Given the description of an element on the screen output the (x, y) to click on. 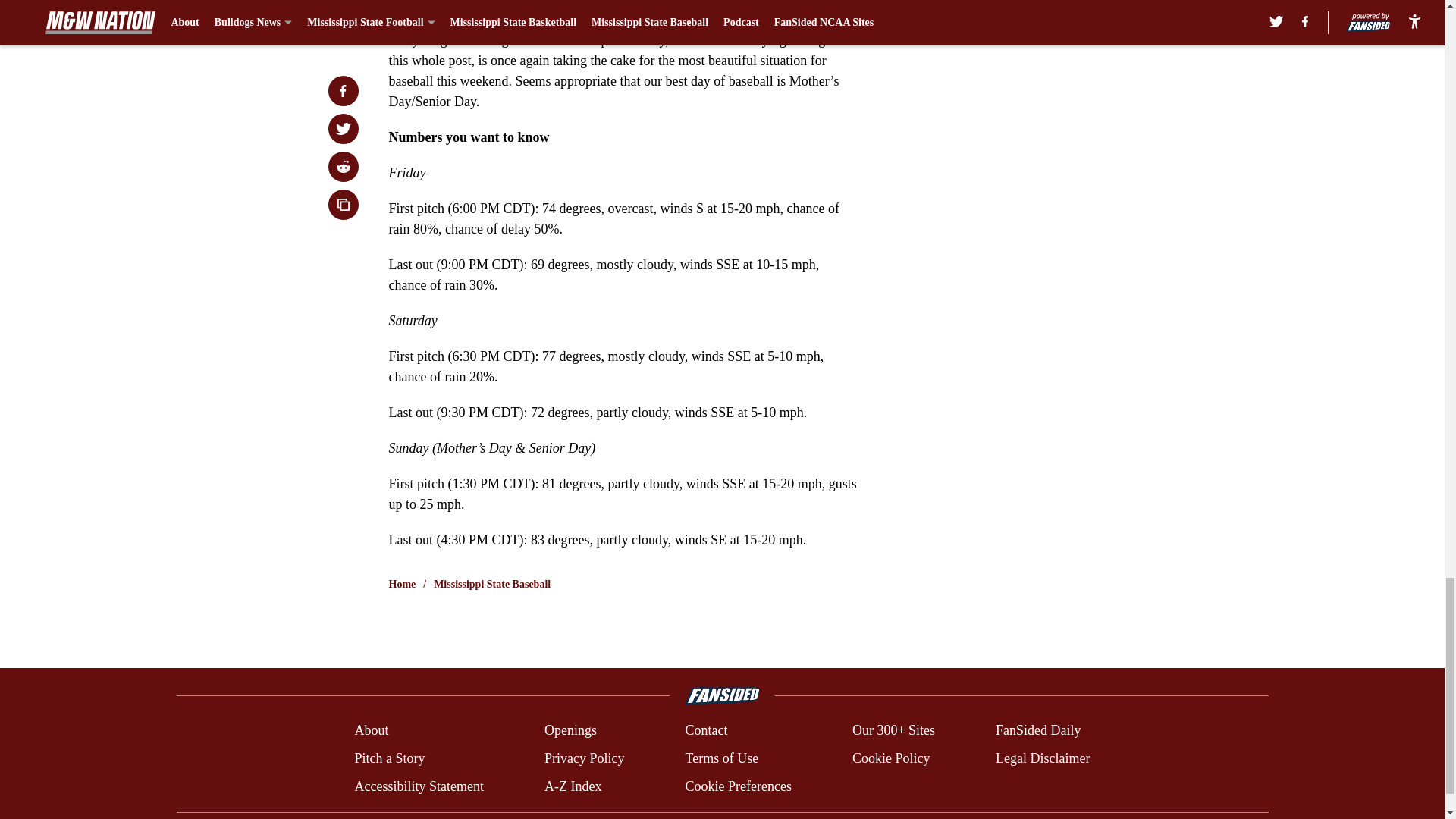
Openings (570, 730)
Pitch a Story (389, 758)
Legal Disclaimer (1042, 758)
Accessibility Statement (418, 786)
About (370, 730)
Terms of Use (721, 758)
Privacy Policy (584, 758)
Cookie Preferences (737, 786)
Cookie Policy (890, 758)
Home (401, 584)
